Given the description of an element on the screen output the (x, y) to click on. 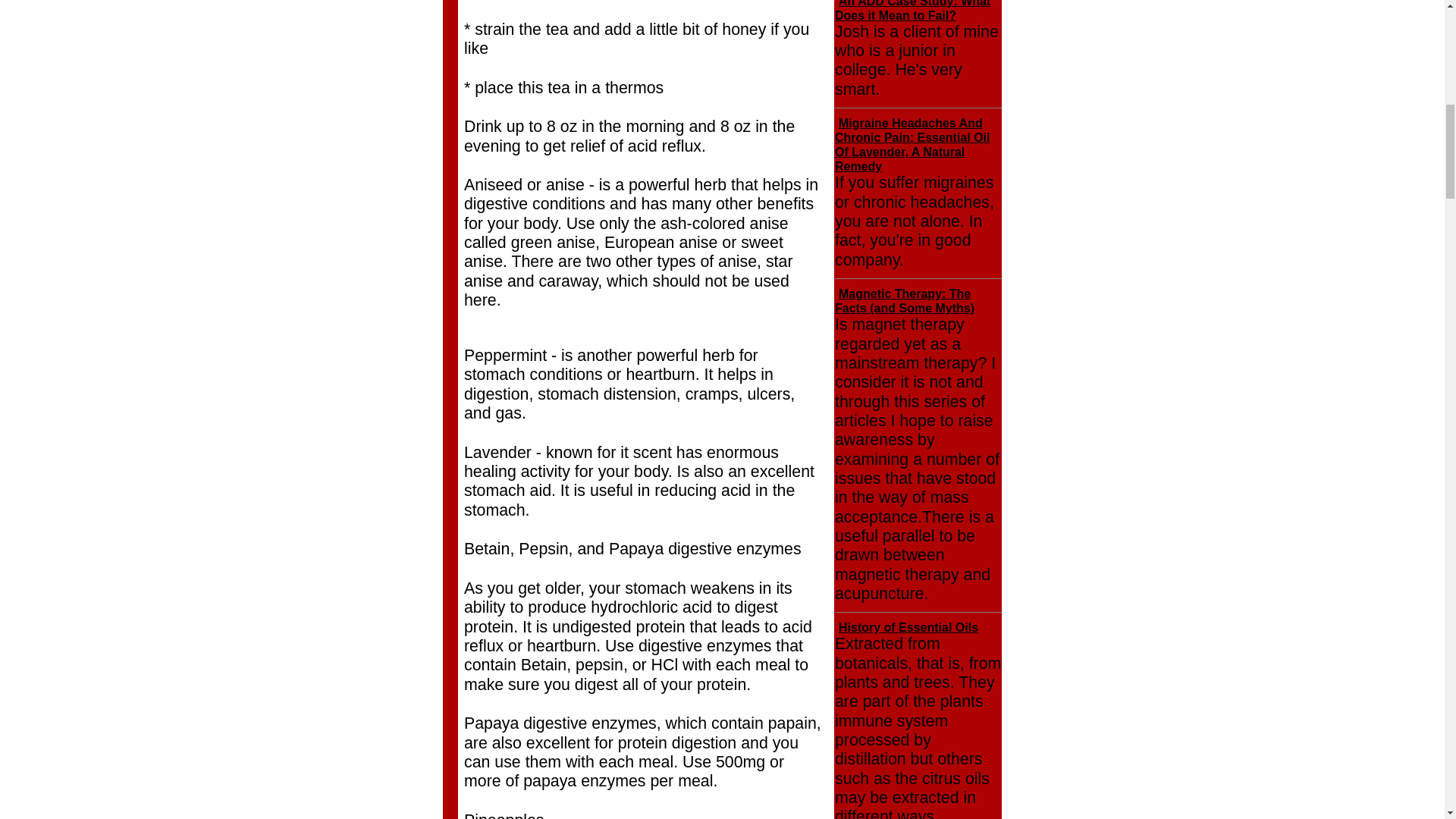
History of Essential Oils (908, 626)
An ADD Case Study: What Does it Mean to Fail? (912, 11)
